Given the description of an element on the screen output the (x, y) to click on. 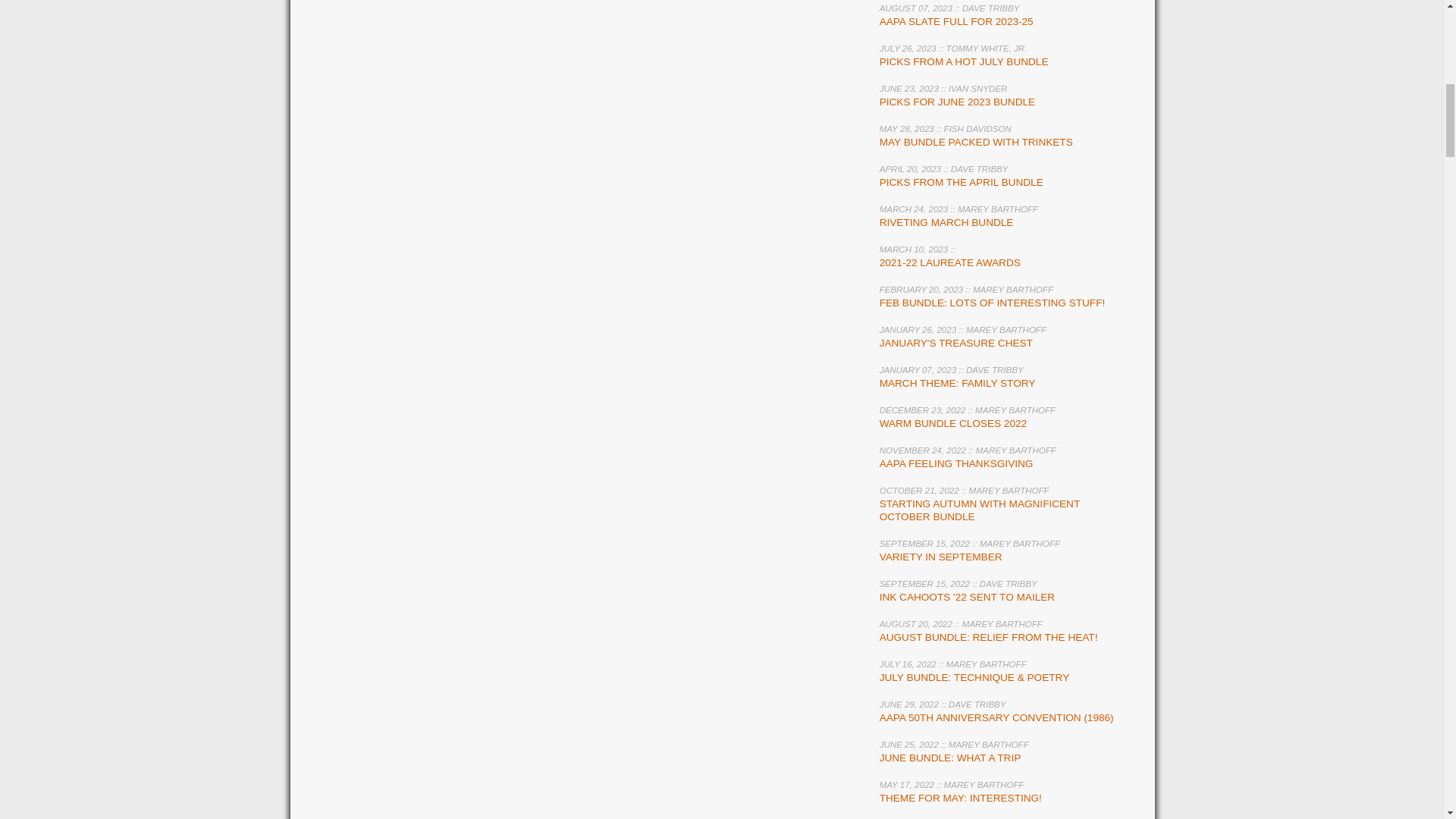
AAPA SLATE FULL FOR 2023-25 (956, 21)
MAY BUNDLE PACKED WITH TRINKETS (976, 142)
PICKS FROM A HOT JULY BUNDLE (963, 61)
PICKS FOR JUNE 2023 BUNDLE (957, 101)
